Given the description of an element on the screen output the (x, y) to click on. 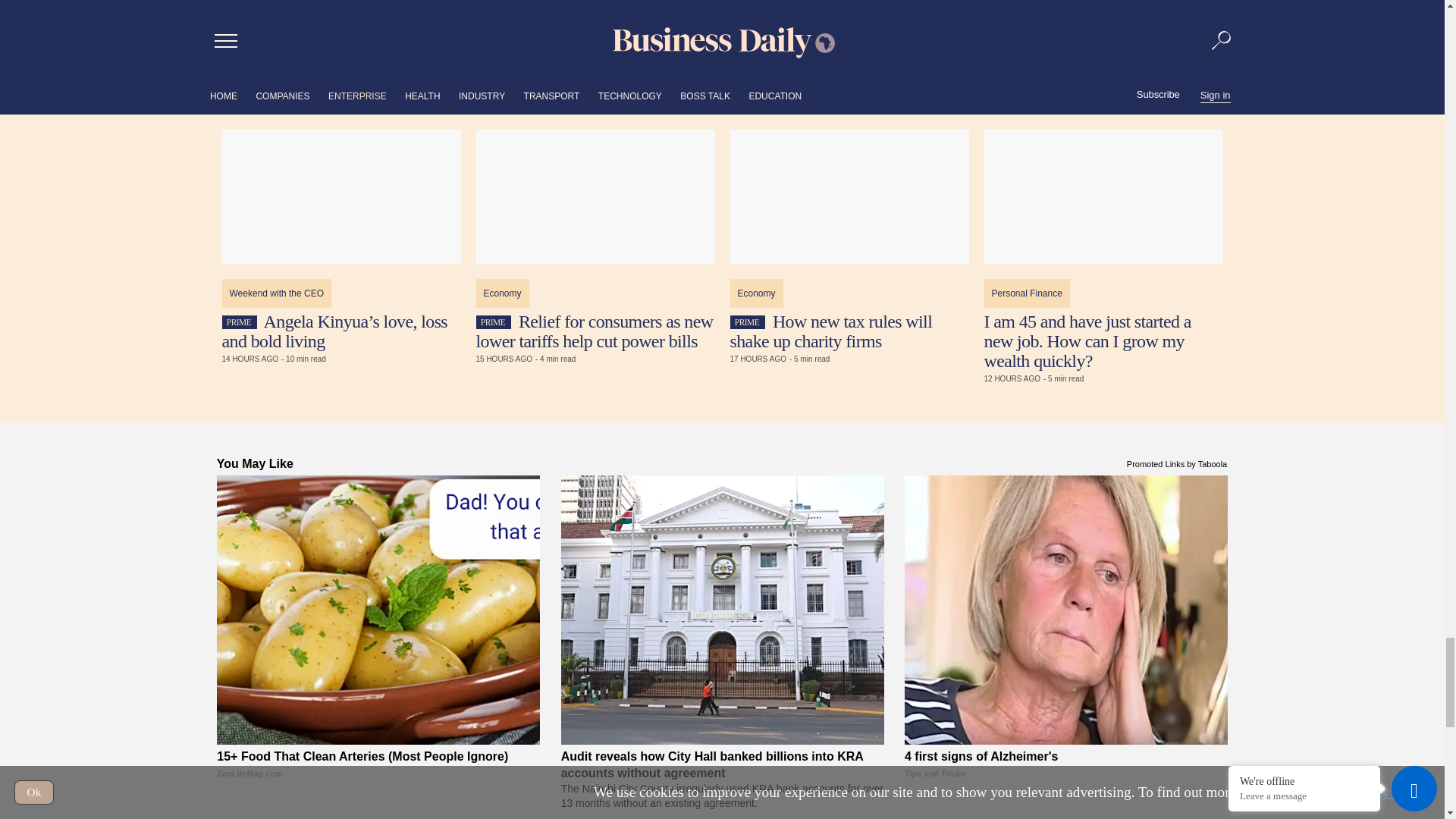
PRIME (493, 322)
4 first signs of Alzheimer's (1065, 783)
4 first signs of Alzheimer's (1065, 609)
PRIME (238, 322)
PRIME (746, 322)
